Given the description of an element on the screen output the (x, y) to click on. 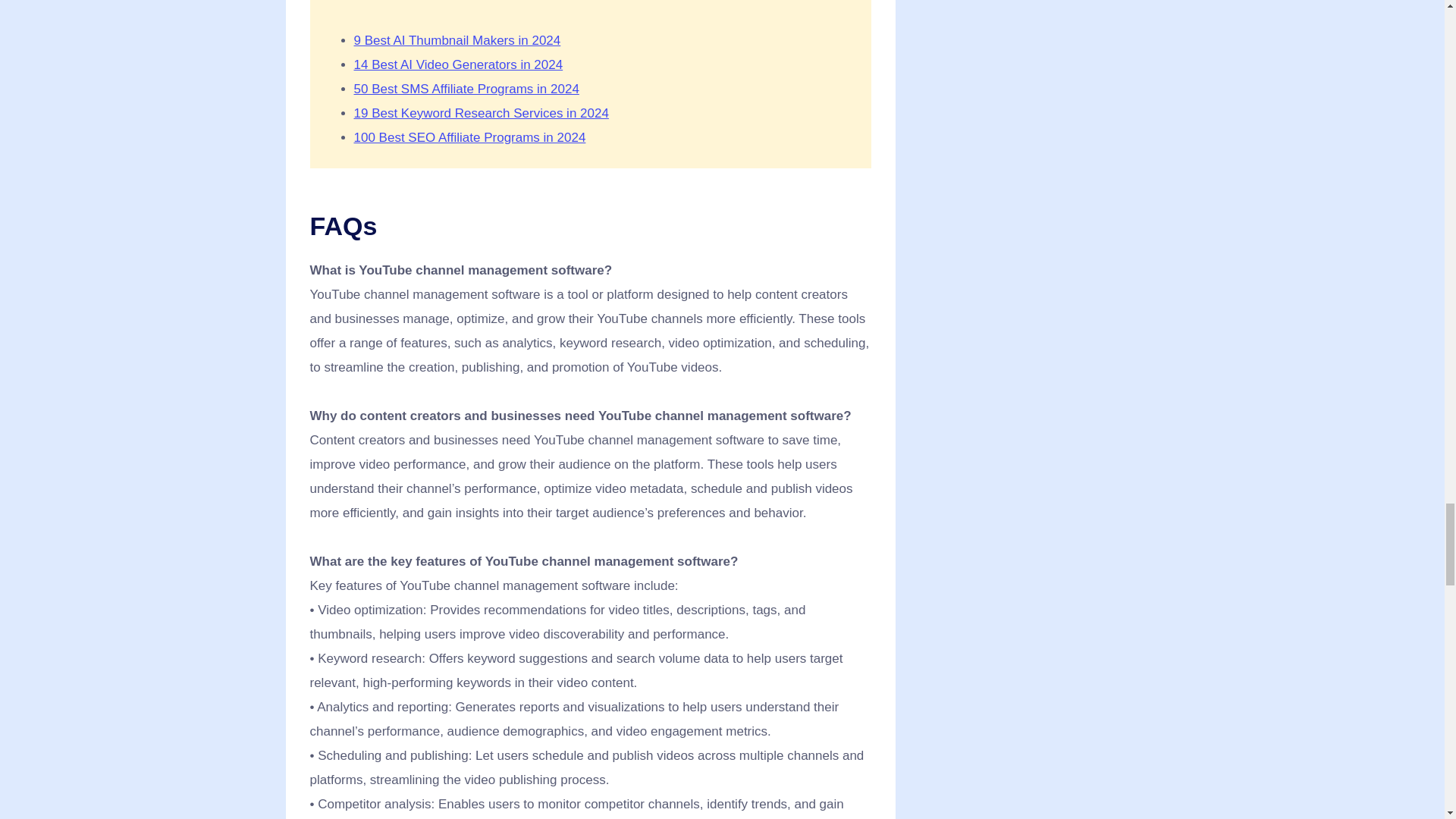
50 Best SMS Affiliate Programs in 2024 (465, 88)
14 Best AI Video Generators in 2024 (457, 64)
19 Best Keyword Research Services in 2024 (480, 113)
9 Best AI Thumbnail Makers in 2024 (456, 40)
100 Best SEO Affiliate Programs in 2024 (469, 137)
